Given the description of an element on the screen output the (x, y) to click on. 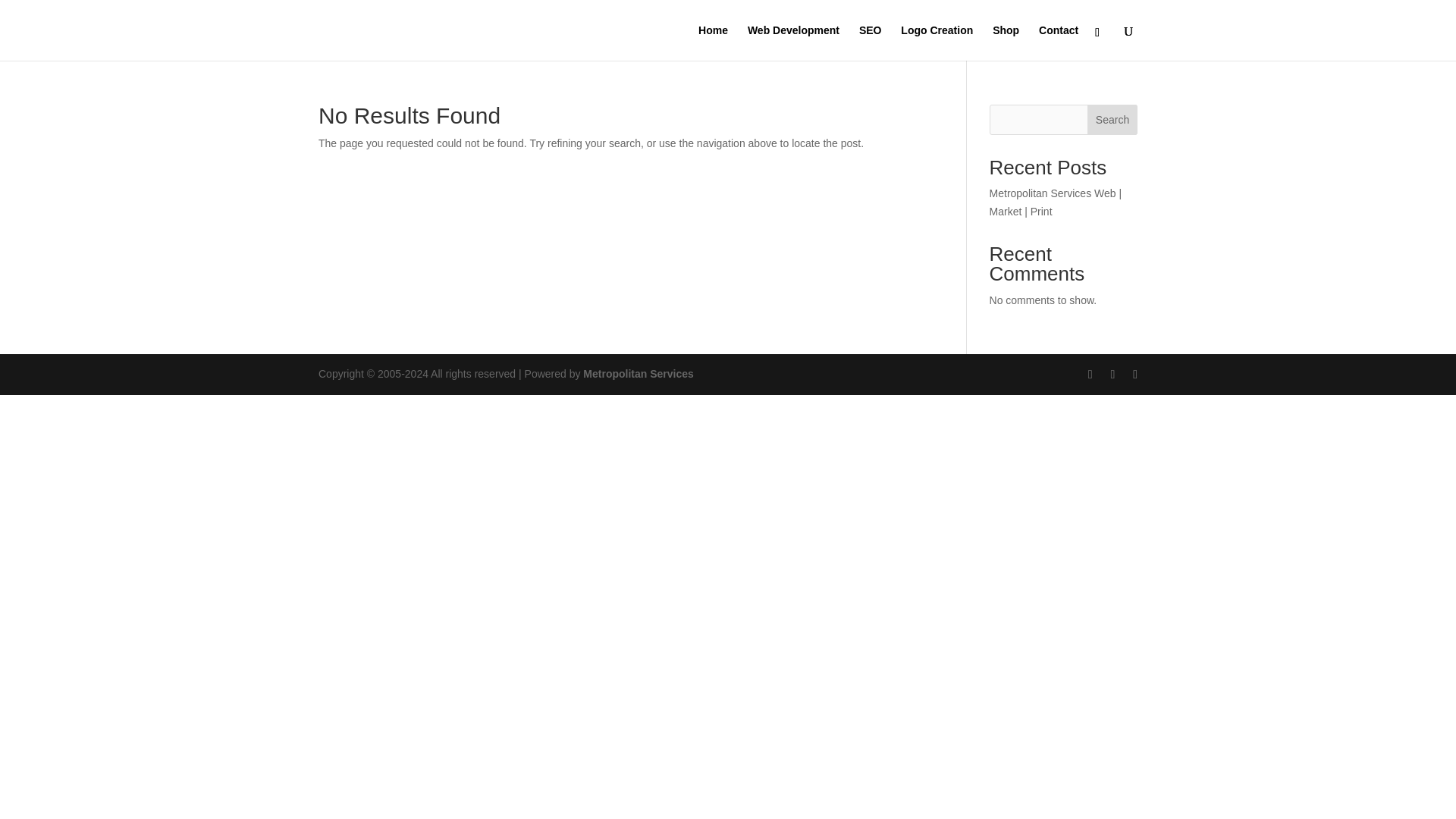
Logo Creation (936, 42)
Metropolitan SEO Website Design (638, 373)
Contact (1058, 42)
Web Development (794, 42)
Metropolitan Services (638, 373)
Search (1112, 119)
